Given the description of an element on the screen output the (x, y) to click on. 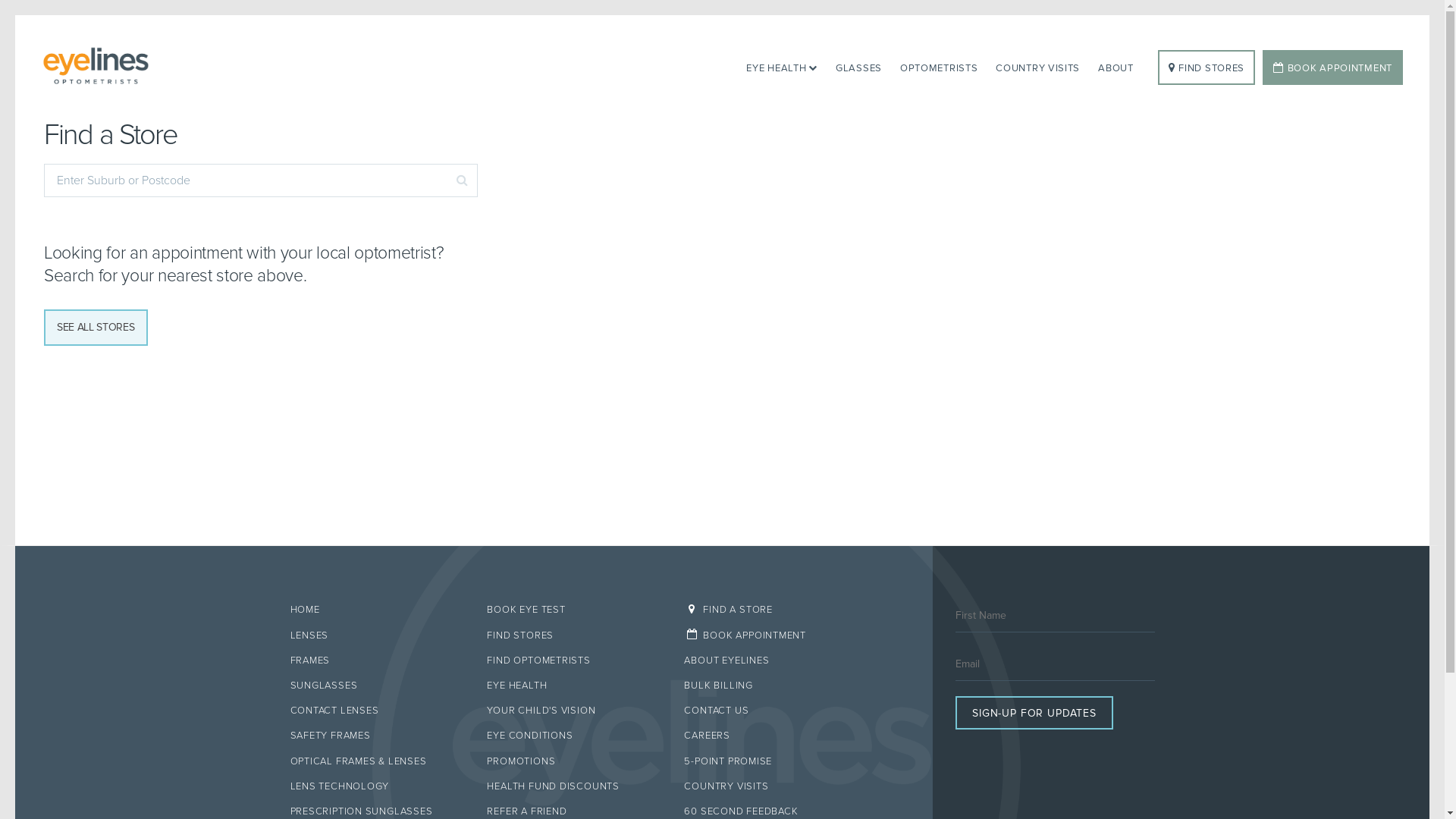
OPTOMETRISTS Element type: text (938, 67)
EYE HEALTH Element type: text (573, 685)
LENS TECHNOLOGY Element type: text (376, 786)
HOME Element type: text (376, 609)
FIND A STORE Element type: text (771, 609)
FIND STORES Element type: text (573, 635)
OPTICAL FRAMES & LENSES Element type: text (376, 760)
FIND OPTOMETRISTS Element type: text (573, 660)
Eyelines Element type: text (164, 66)
EYE CONDITIONS Element type: text (573, 735)
LENSES Element type: text (376, 635)
COUNTRY VISITS Element type: text (1037, 67)
Sign-up for updates Element type: text (1034, 712)
BOOK APPOINTMENT Element type: text (1332, 67)
5-POINT PROMISE Element type: text (771, 760)
CAREERS Element type: text (771, 735)
FRAMES Element type: text (376, 660)
YOUR CHILD'S VISION Element type: text (573, 710)
BOOK EYE TEST Element type: text (573, 609)
BULK BILLING Element type: text (771, 685)
SUNGLASSES Element type: text (376, 685)
CONTACT LENSES Element type: text (376, 710)
SEE ALL STORES Element type: text (95, 327)
PROMOTIONS Element type: text (573, 760)
COUNTRY VISITS Element type: text (771, 786)
GLASSES Element type: text (858, 67)
FIND STORES Element type: text (1206, 67)
ABOUT EYELINES Element type: text (771, 660)
SAFETY FRAMES Element type: text (376, 735)
EYE HEALTH Element type: text (781, 67)
ABOUT Element type: text (1115, 67)
HEALTH FUND DISCOUNTS Element type: text (573, 786)
BOOK APPOINTMENT Element type: text (771, 635)
CONTACT US Element type: text (771, 710)
